Given the description of an element on the screen output the (x, y) to click on. 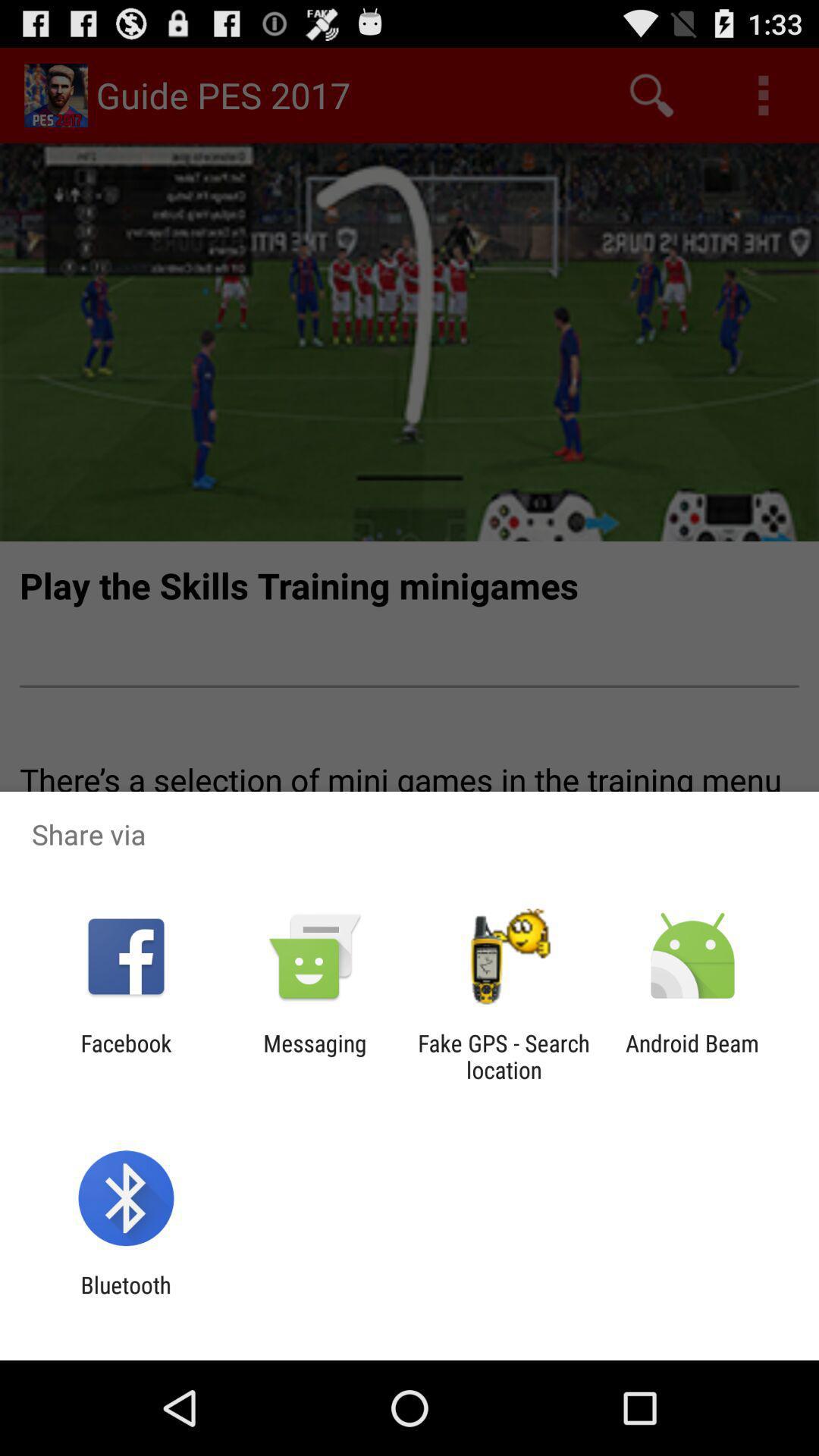
launch the icon to the right of facebook item (314, 1056)
